Given the description of an element on the screen output the (x, y) to click on. 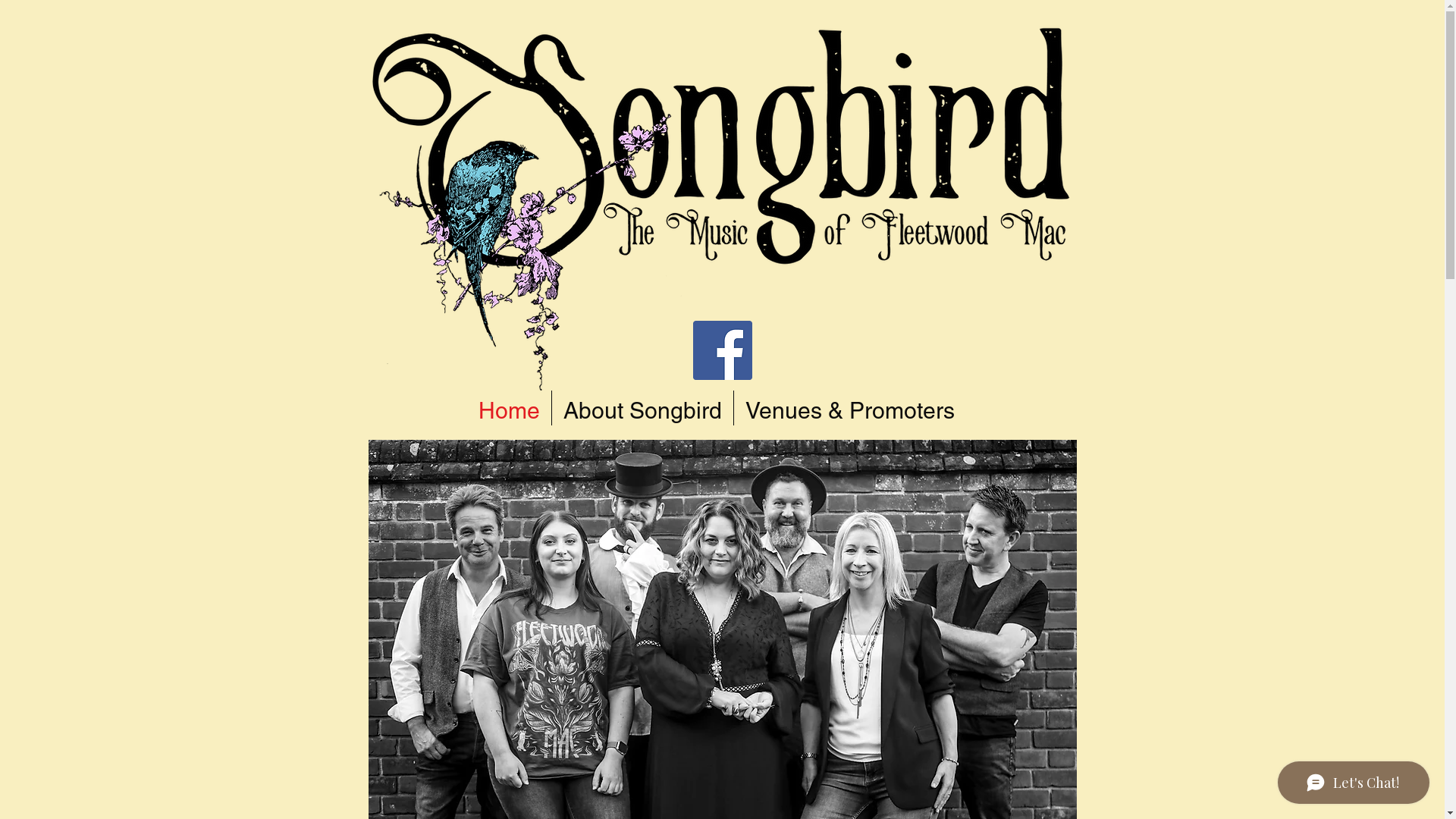
Home Element type: text (509, 407)
Venues & Promoters Element type: text (850, 407)
About Songbird Element type: text (642, 407)
